Given the description of an element on the screen output the (x, y) to click on. 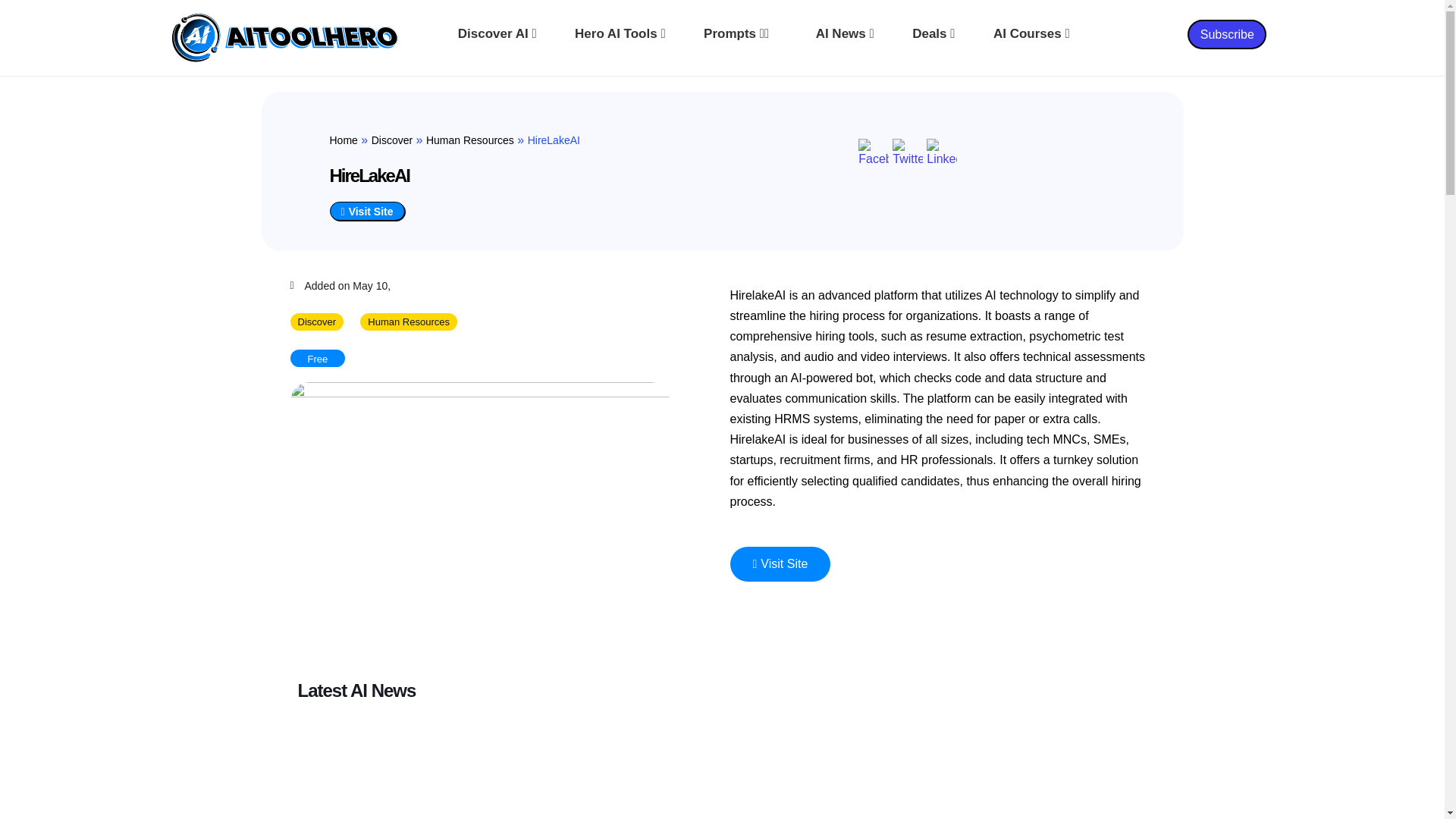
LinkedIn (941, 152)
Best AI Tools (626, 34)
Subscribe (1227, 34)
Visit Site (366, 210)
Home (342, 140)
AI News (850, 34)
Twitter (907, 152)
Ai Software Deals (939, 34)
Facebook (873, 152)
Discover (391, 140)
Human Resources (469, 140)
